Given the description of an element on the screen output the (x, y) to click on. 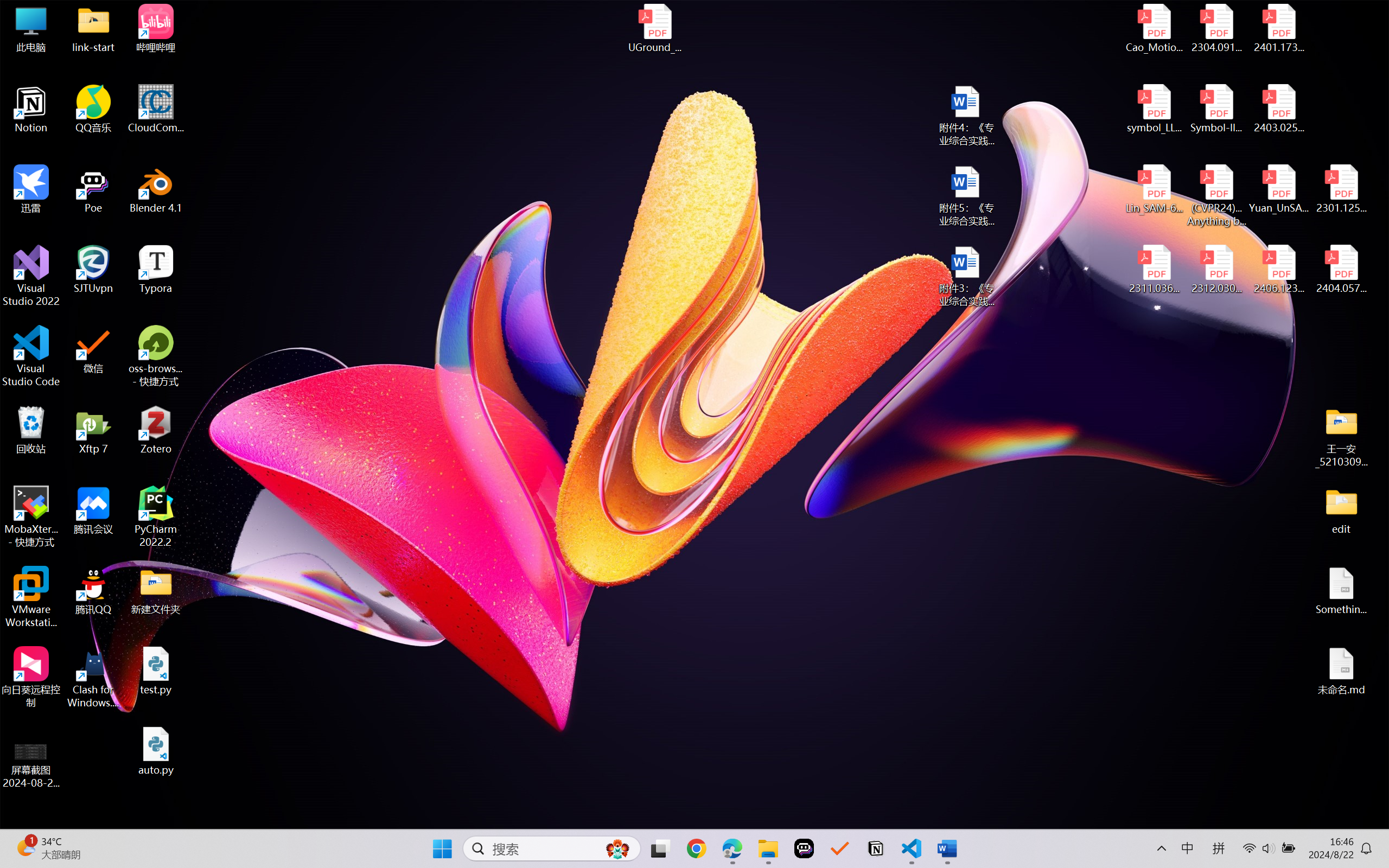
auto.py (156, 751)
2406.12373v2.pdf (1278, 269)
(CVPR24)Matching Anything by Segmenting Anything.pdf (1216, 195)
PyCharm 2022.2 (156, 516)
symbol_LLM.pdf (1154, 109)
test.py (156, 670)
2403.02502v1.pdf (1278, 109)
